Given the description of an element on the screen output the (x, y) to click on. 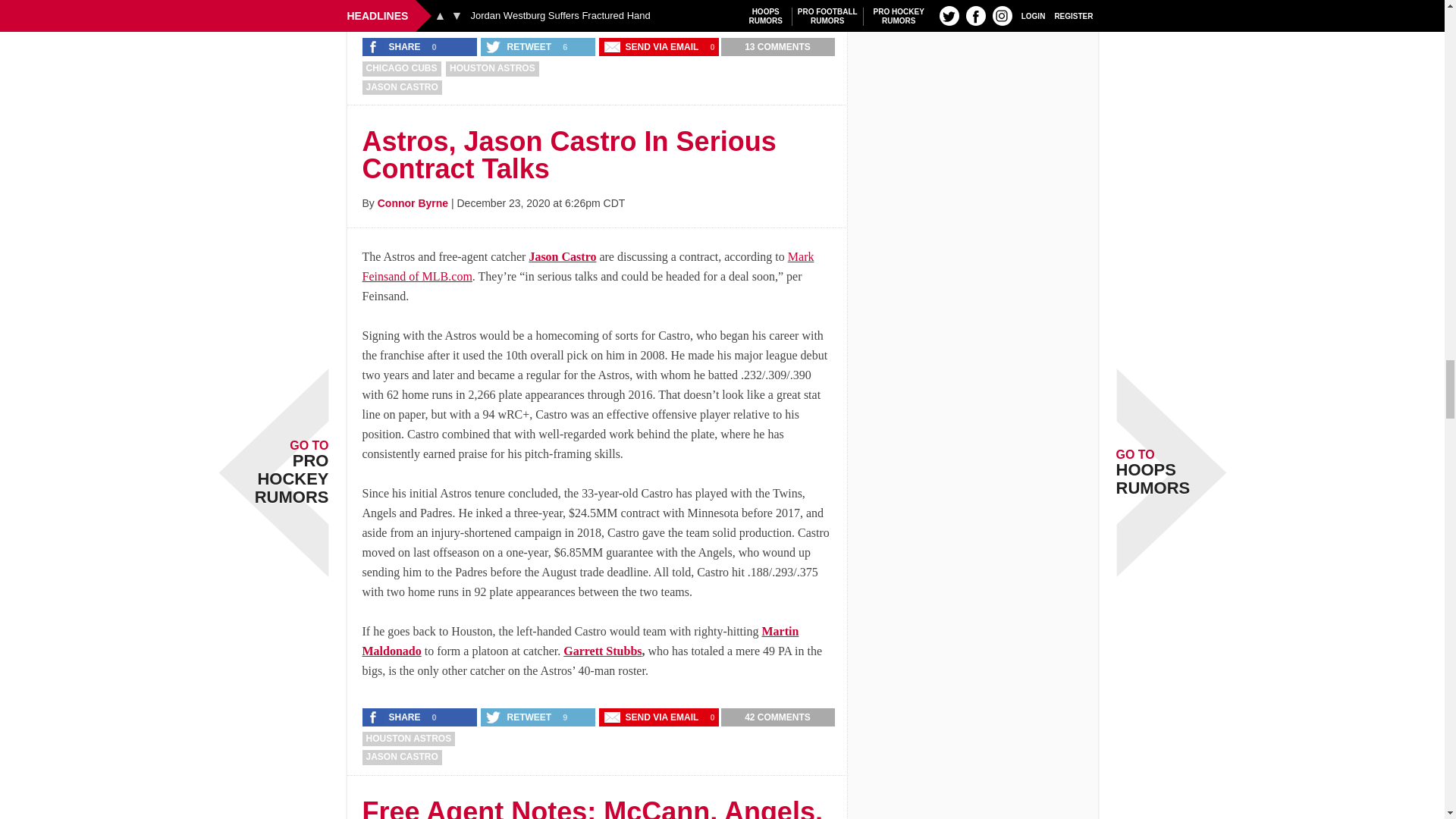
Share 'Latest On Jason Castro' on Facebook (395, 46)
Send Latest On Jason Castro with an email (652, 46)
Retweet 'Latest On Jason Castro' on Twitter (519, 46)
